Given the description of an element on the screen output the (x, y) to click on. 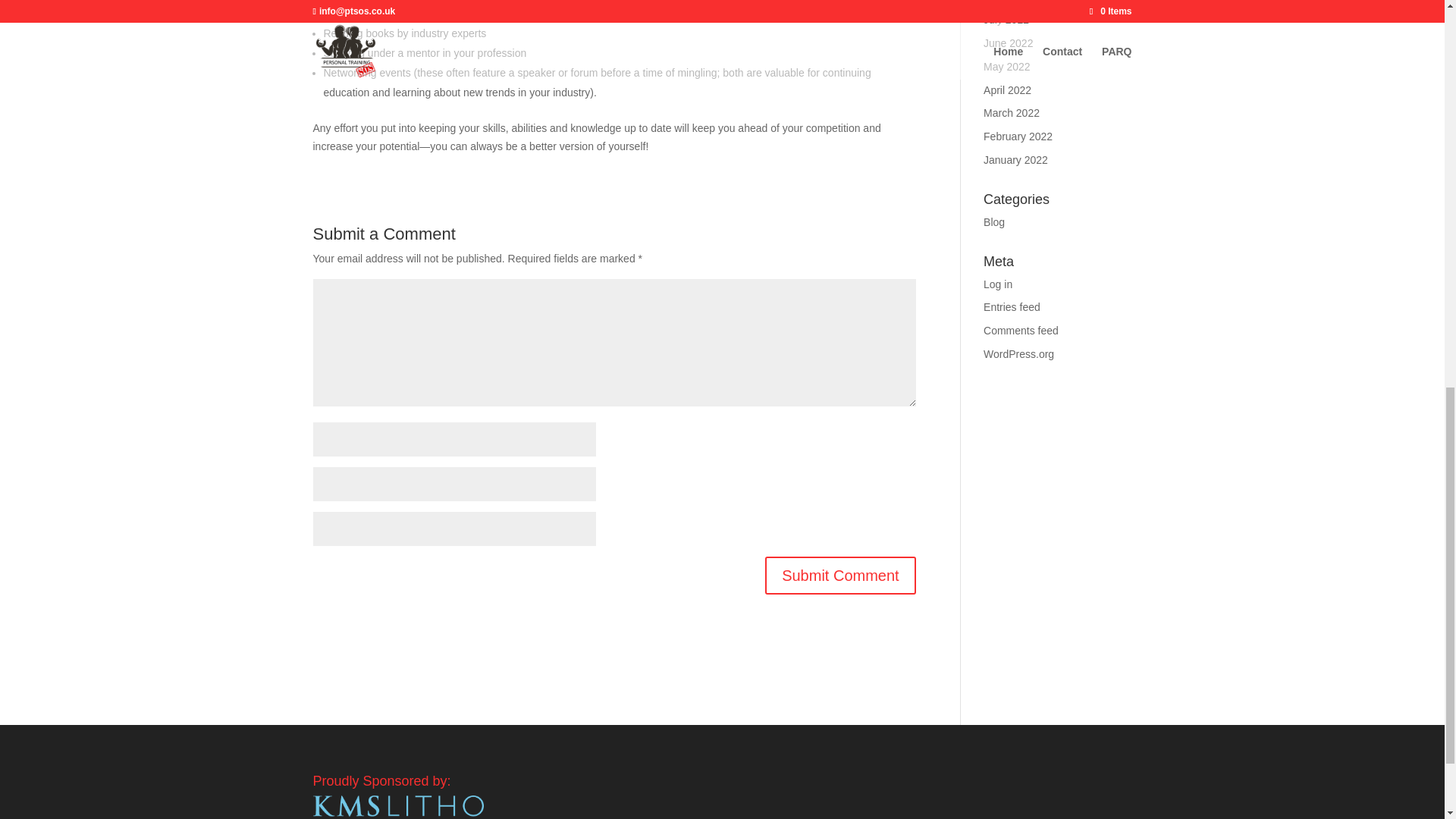
June 2022 (1008, 42)
August 2022 (1013, 1)
July 2022 (1006, 19)
May 2022 (1006, 66)
Submit Comment (840, 575)
Submit Comment (840, 575)
